Given the description of an element on the screen output the (x, y) to click on. 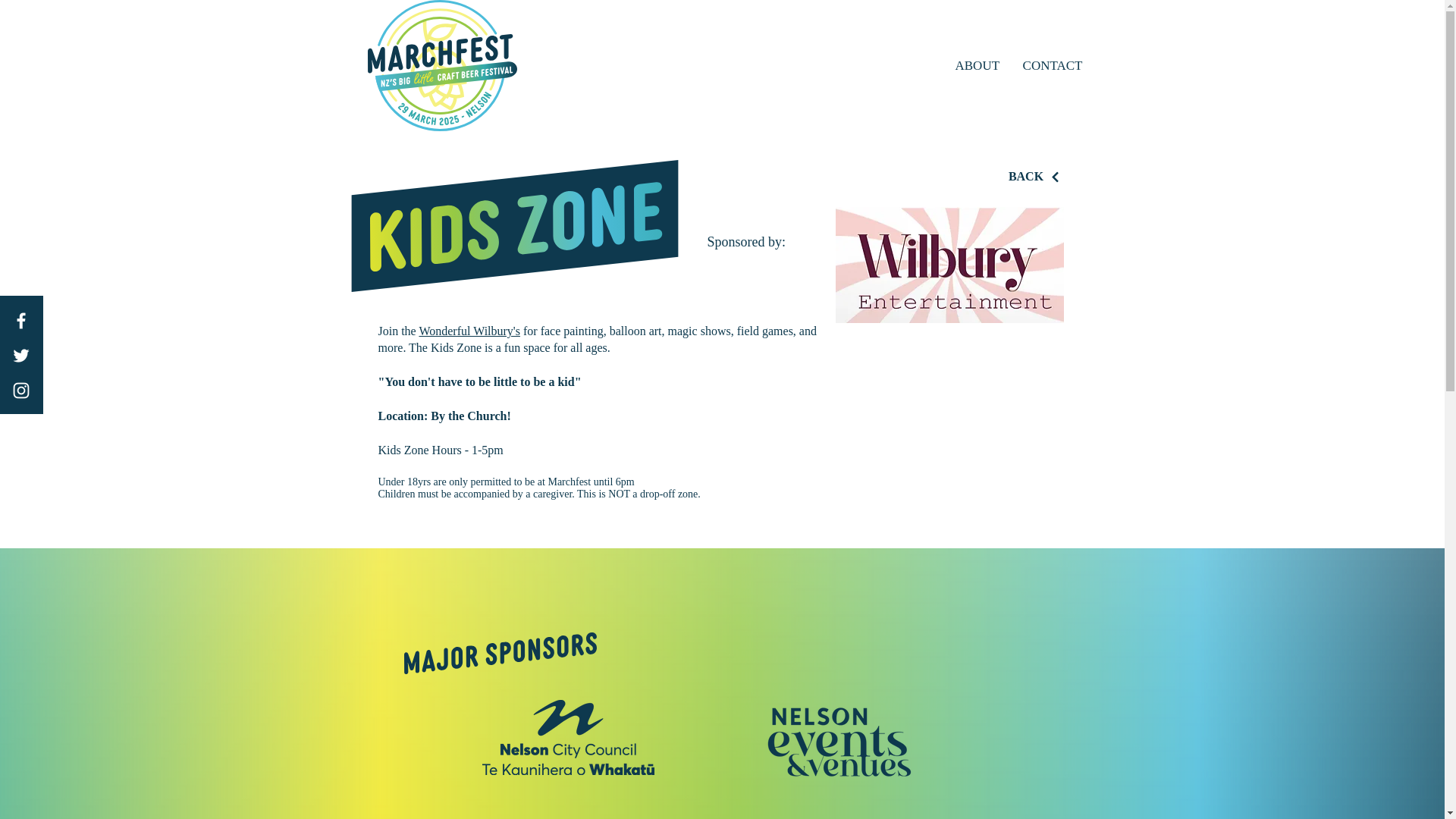
CONTACT (1051, 65)
BACK (1035, 176)
Wonderful Wilbury's (469, 330)
ABOUT (976, 65)
